Given the description of an element on the screen output the (x, y) to click on. 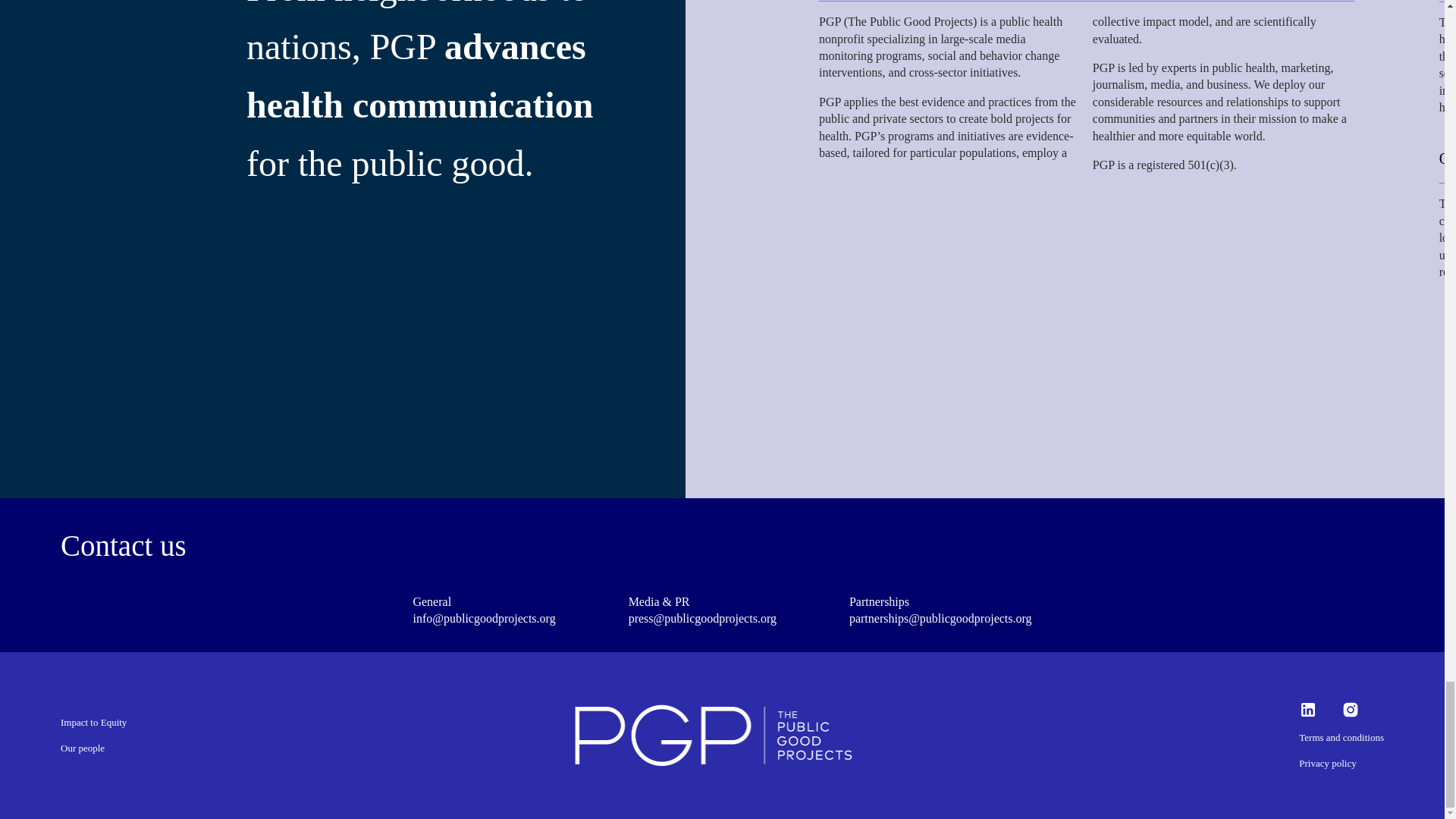
Impact to Equity (93, 721)
Terms and conditions (1341, 736)
Our people (82, 748)
Privacy policy (1326, 763)
